Given the description of an element on the screen output the (x, y) to click on. 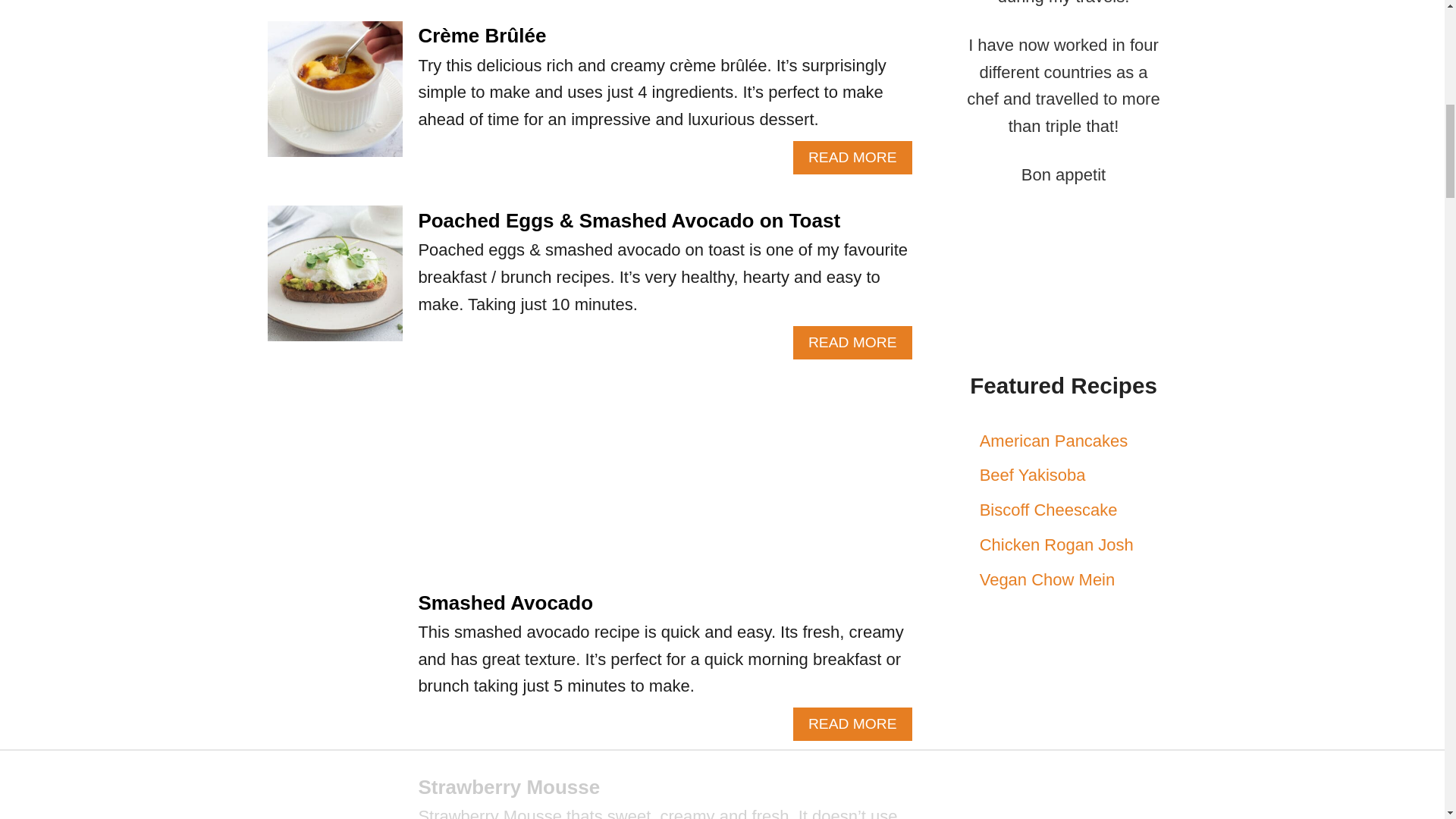
Strawberry Mousse (508, 786)
Smashed Avocado (504, 602)
Strawberry Mousse (852, 724)
Smashed Avocado (334, 802)
